Given the description of an element on the screen output the (x, y) to click on. 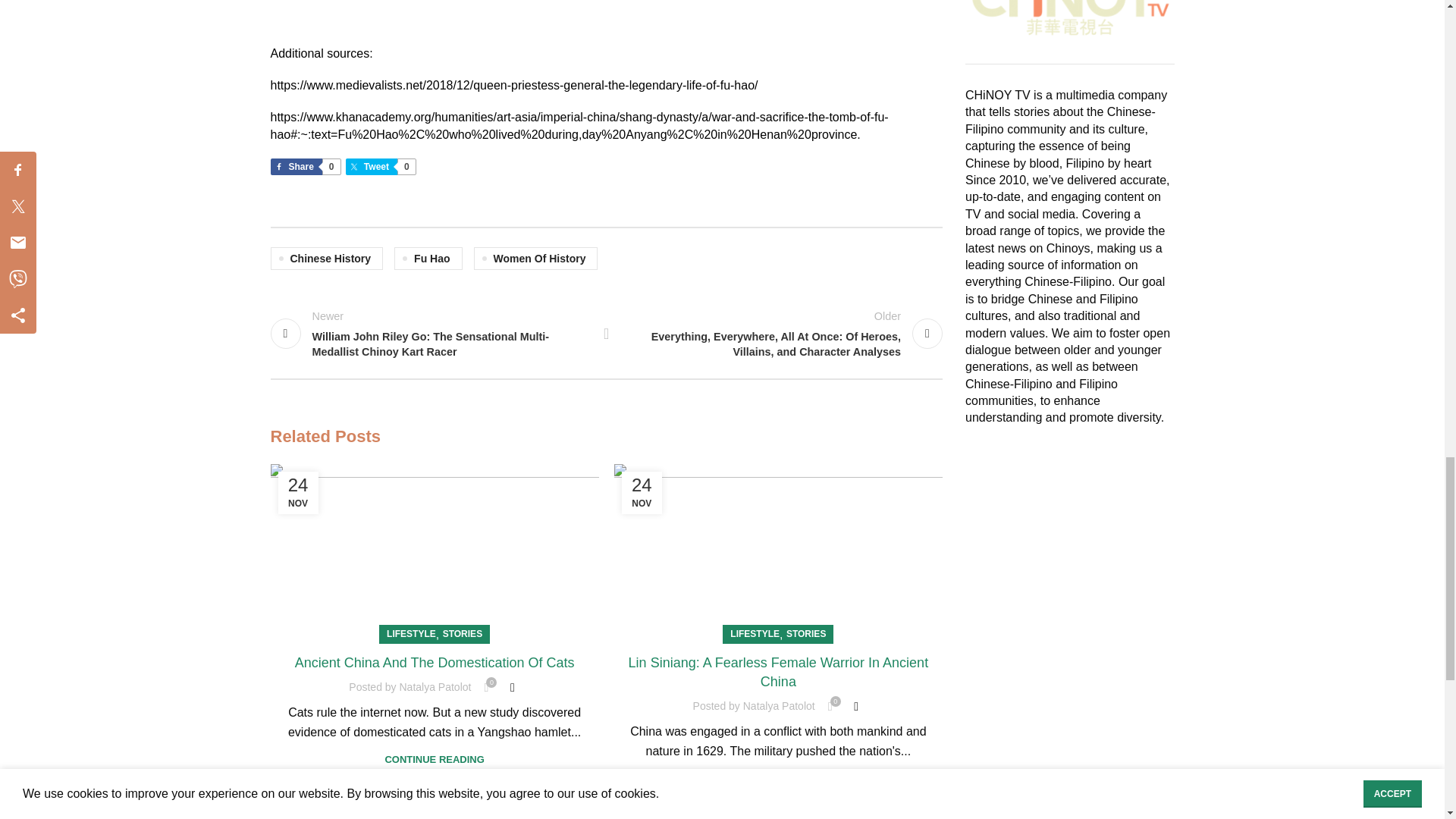
LIFESTYLE (754, 633)
0 (486, 687)
Women Of History (536, 258)
Share on Twitter (380, 166)
Back to list (606, 333)
LIFESTYLE (411, 633)
Natalya Patolot (434, 686)
STORIES (805, 633)
STORIES (461, 633)
Chinese History (325, 258)
Share on Facebook (304, 166)
CONTINUE READING (433, 759)
China's Forgotten Warrior Queen - Fu Hao (459, 12)
